Given the description of an element on the screen output the (x, y) to click on. 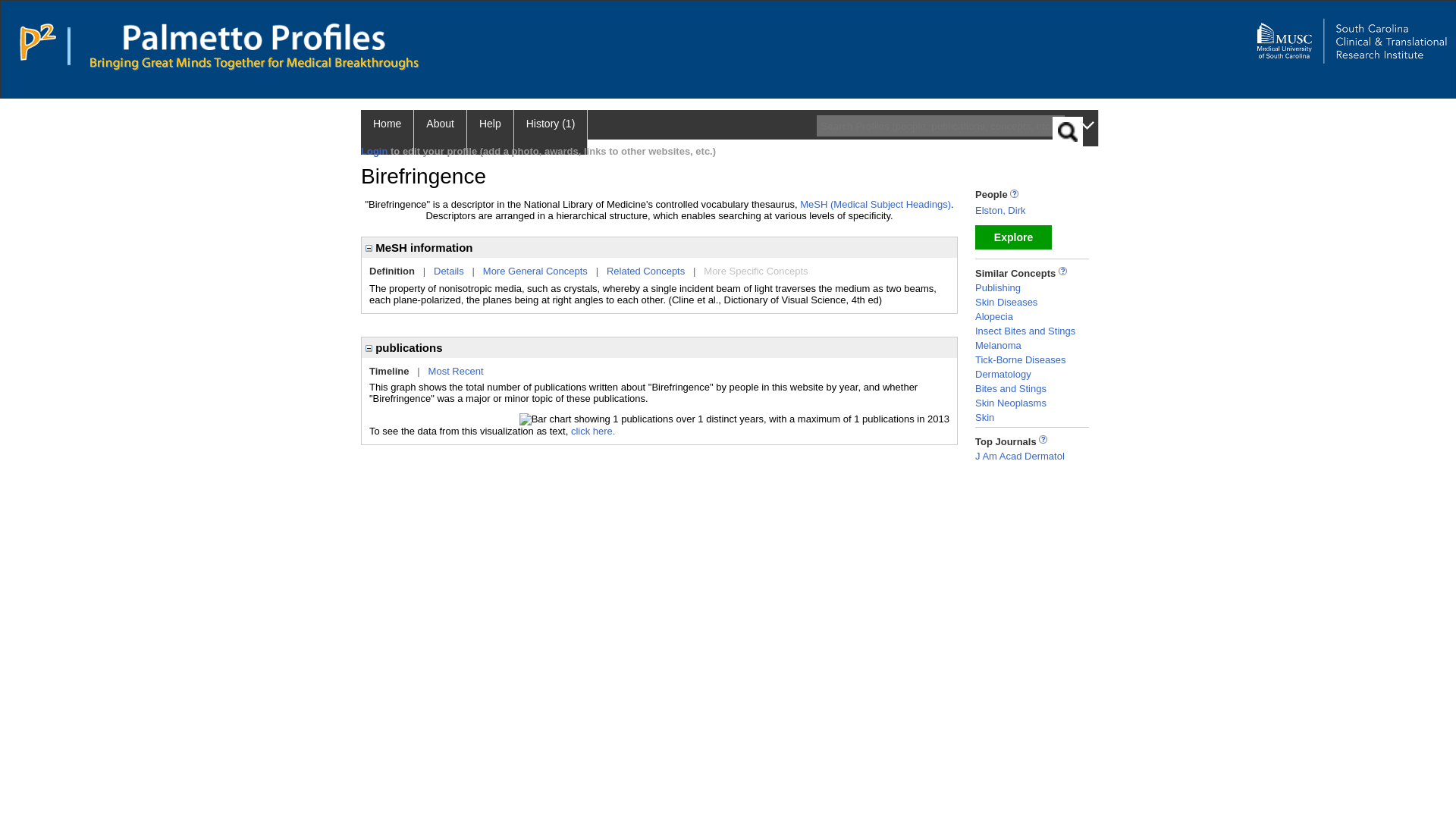
More Specific Concepts (755, 270)
Help (490, 131)
Timeline (389, 370)
Most Recent (455, 370)
Home (387, 131)
About (440, 131)
Details (448, 270)
Definition (391, 270)
Related Concepts (645, 270)
click here. (592, 430)
More General Concepts (535, 270)
Login (374, 151)
